Given the description of an element on the screen output the (x, y) to click on. 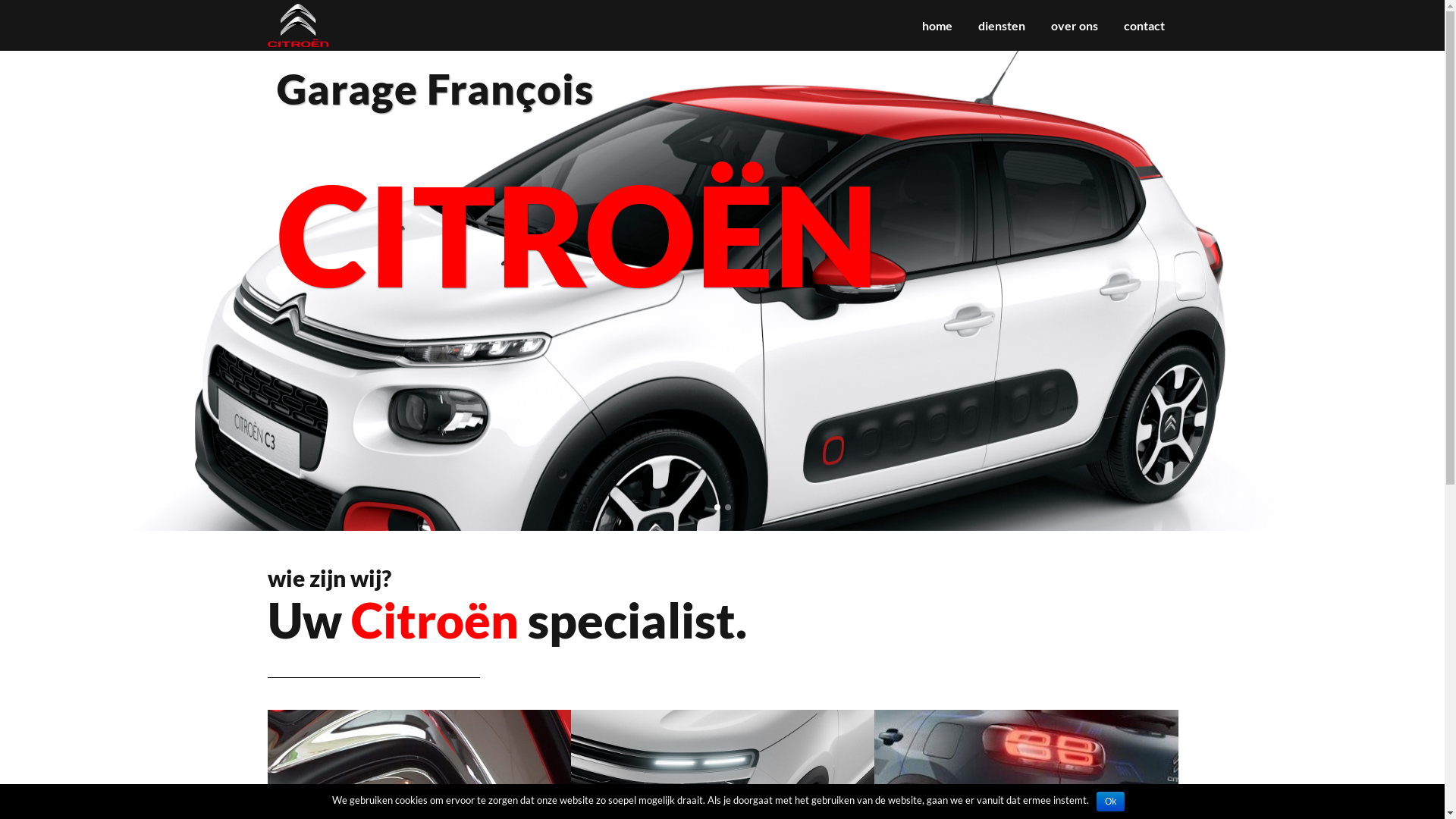
diensten Element type: text (1000, 25)
home Element type: text (936, 25)
over ons Element type: text (1073, 25)
Ok Element type: text (1110, 801)
contact Element type: text (1143, 25)
